Given the description of an element on the screen output the (x, y) to click on. 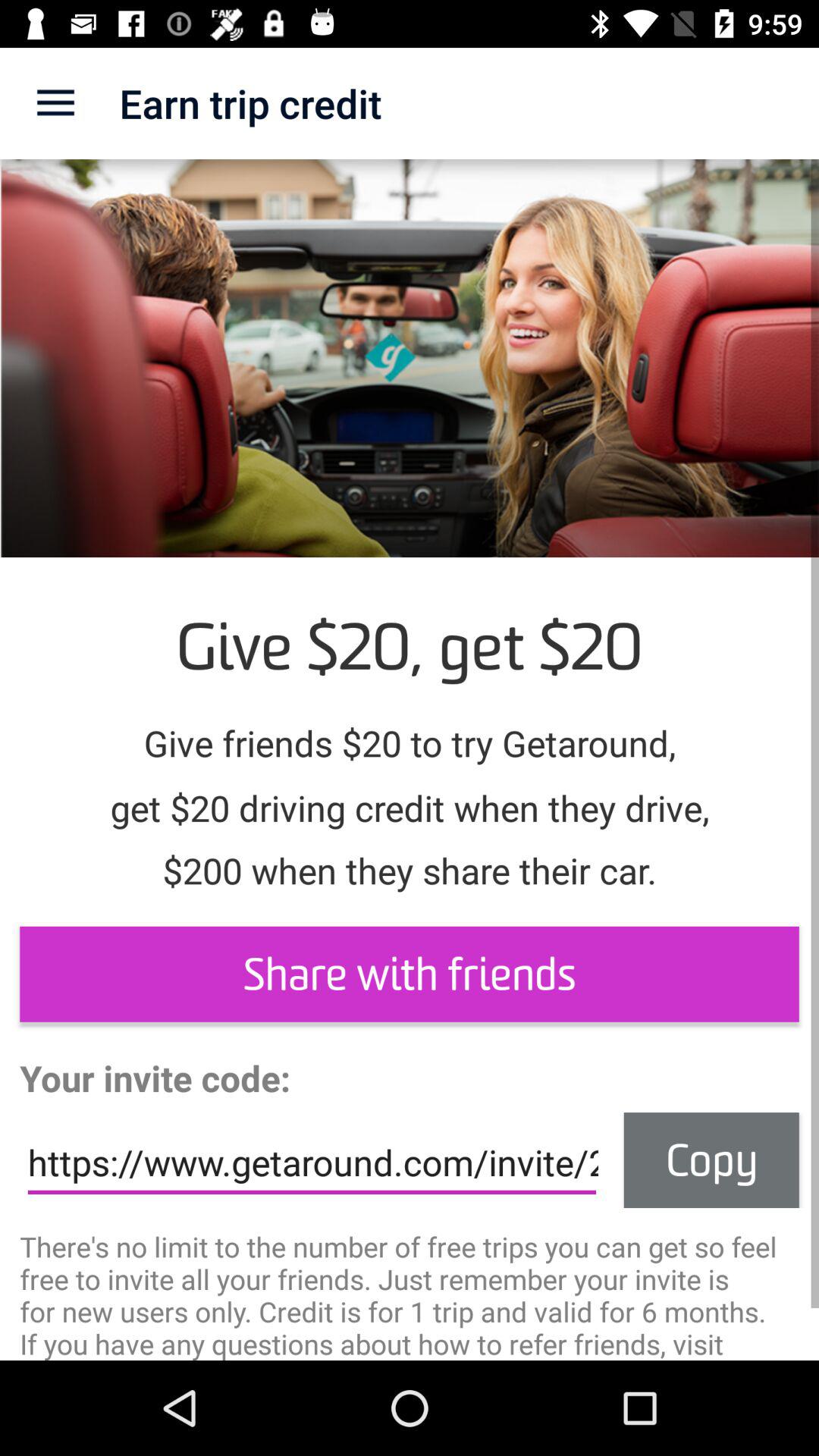
launch item below your invite code: (311, 1163)
